Given the description of an element on the screen output the (x, y) to click on. 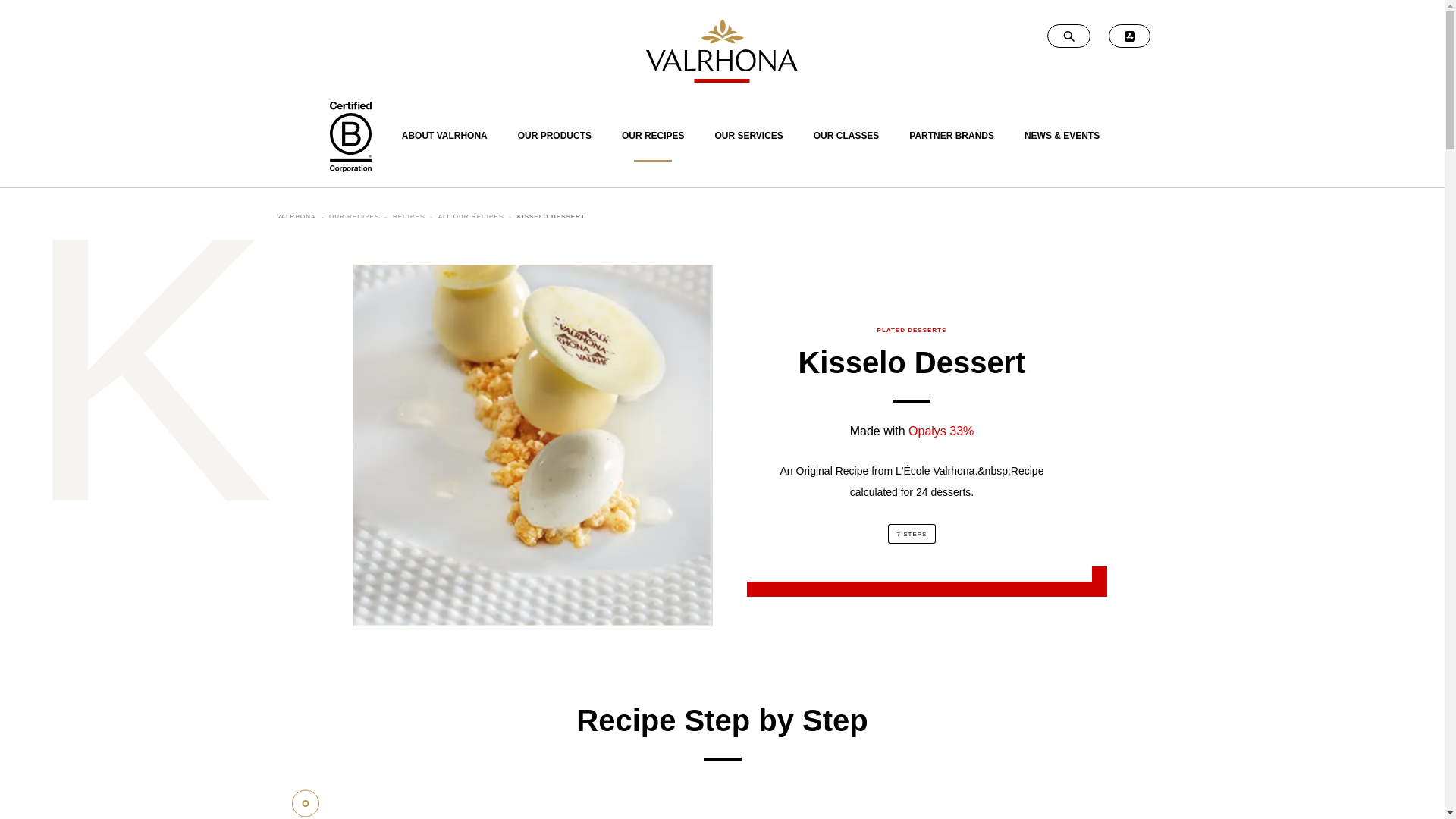
Valrhona (721, 50)
OUR PRODUCTS (554, 144)
OUR RECIPES (653, 144)
Valrhona - Let's imagine the best of chocolate (721, 50)
ABOUT VALRHONA (444, 144)
Valrhona - Let's imagine the best of chocolate (721, 50)
